Given the description of an element on the screen output the (x, y) to click on. 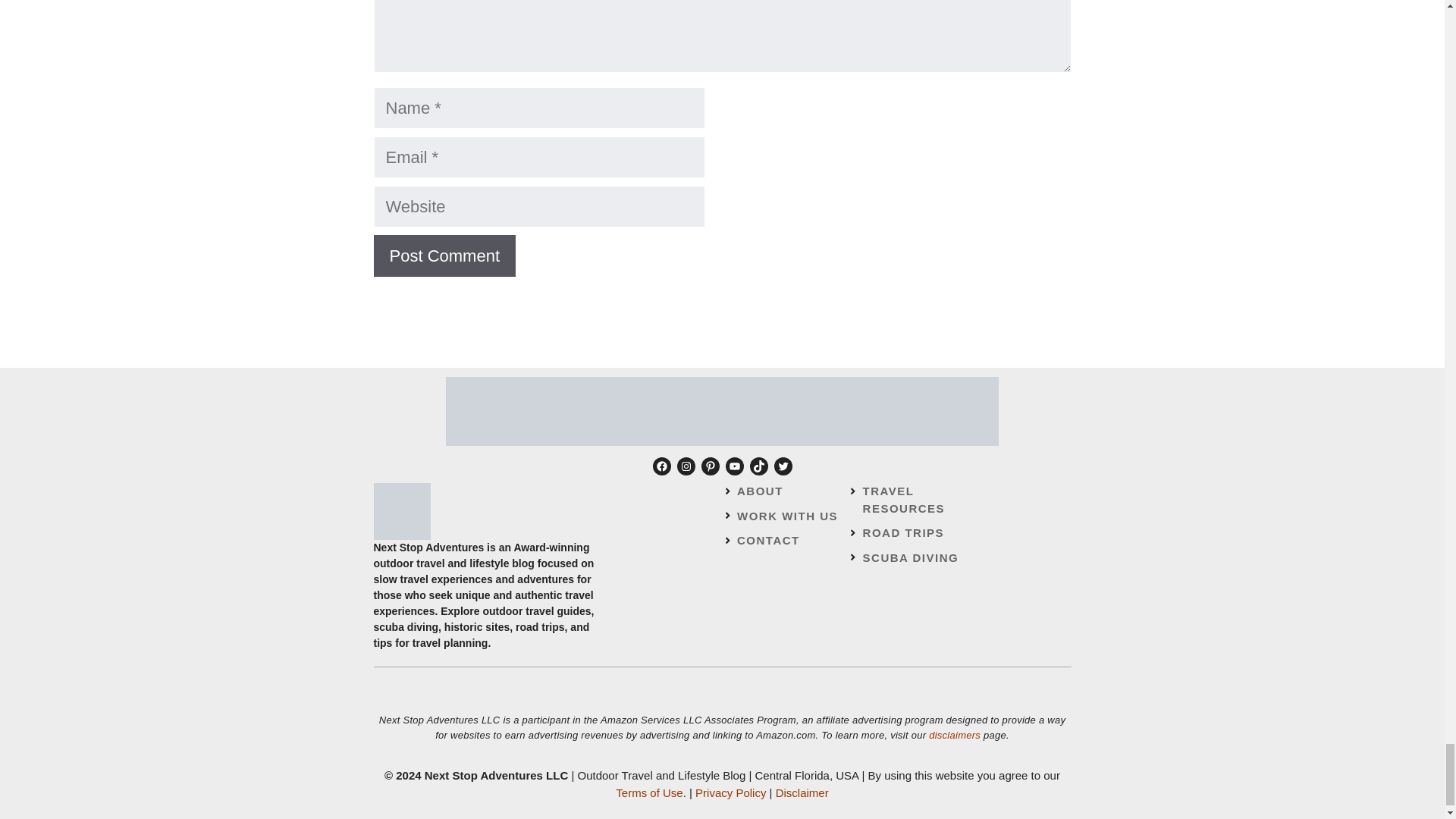
Post Comment (443, 255)
